Given the description of an element on the screen output the (x, y) to click on. 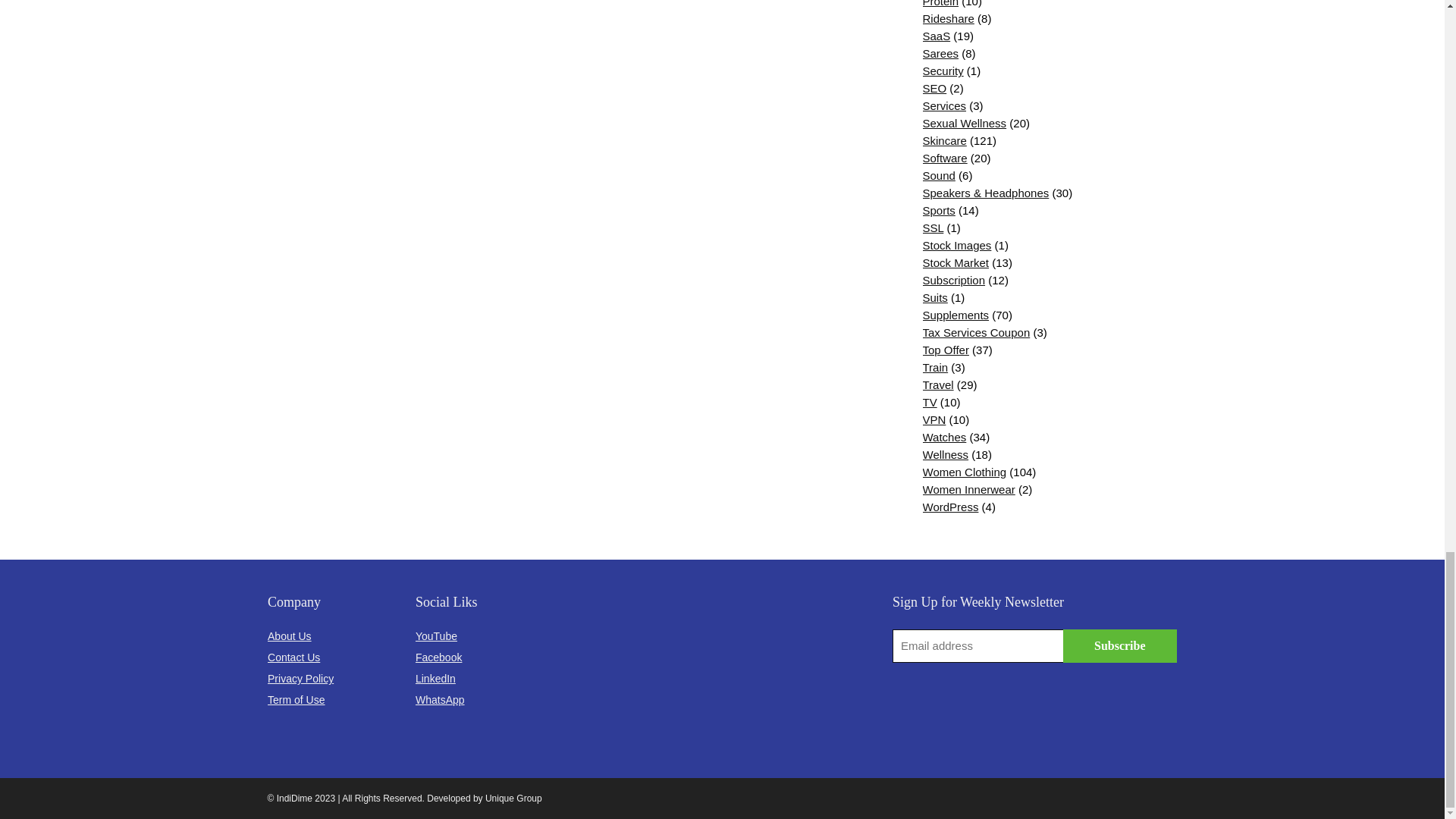
Subscribe (1119, 645)
